Given the description of an element on the screen output the (x, y) to click on. 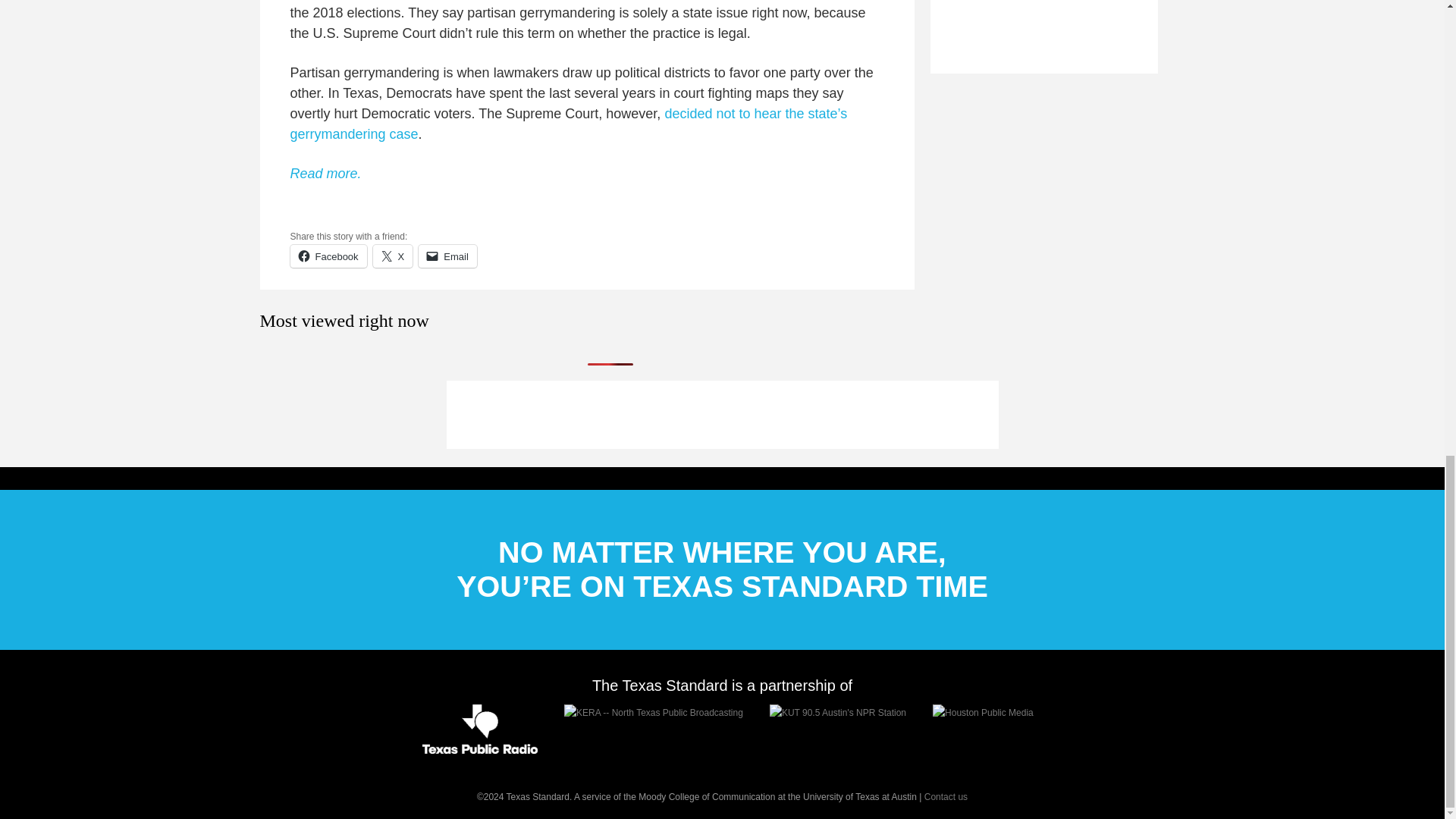
Click to share on Facebook (327, 255)
Click to email a link to a friend (448, 255)
Click to share on X (392, 255)
